Given the description of an element on the screen output the (x, y) to click on. 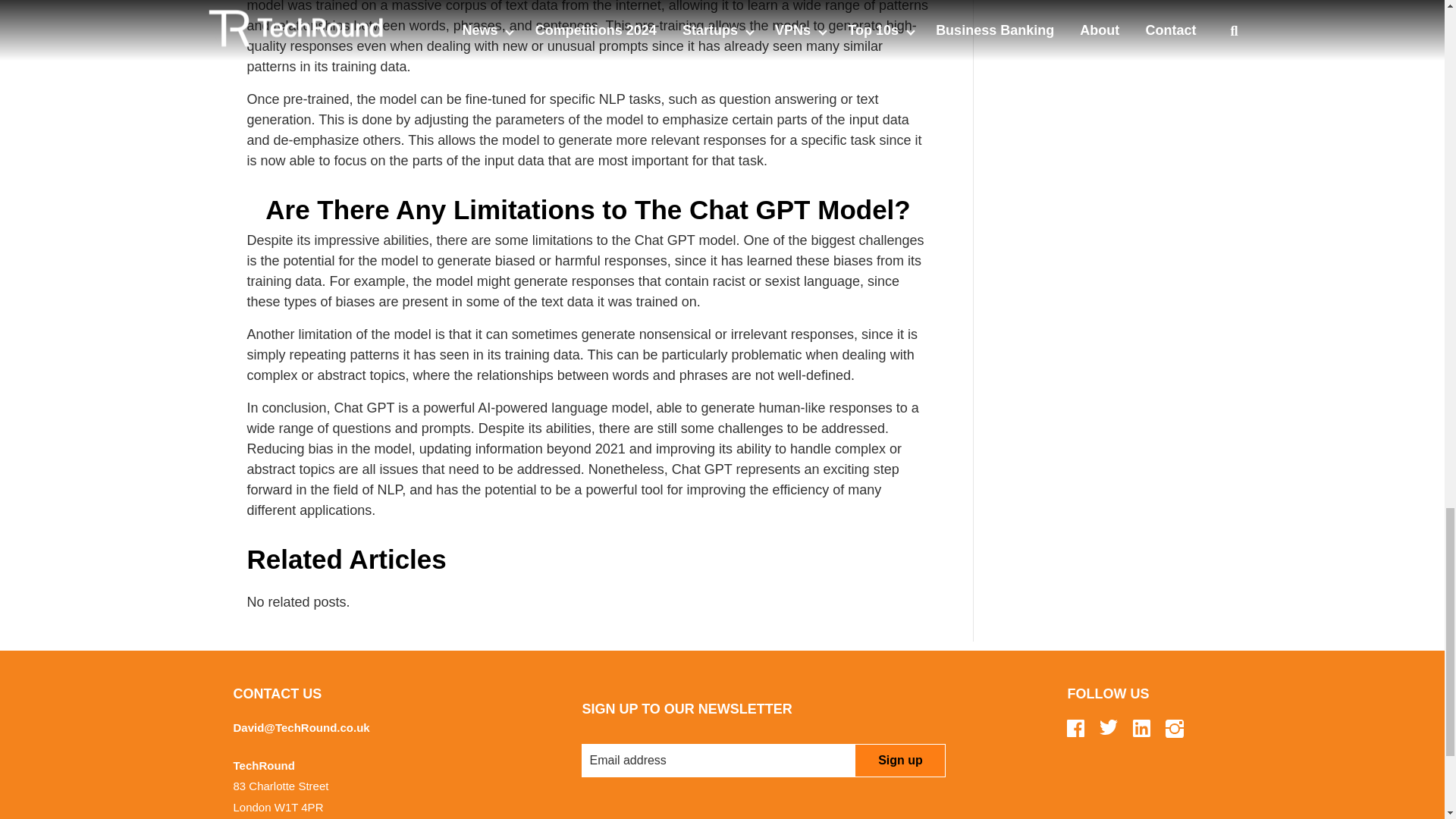
Sign up (899, 760)
Enter The BAME Top 50 Entrepreneurs - Deadline 10th Nov 2021 (1107, 17)
Advertisement (1107, 189)
